Given the description of an element on the screen output the (x, y) to click on. 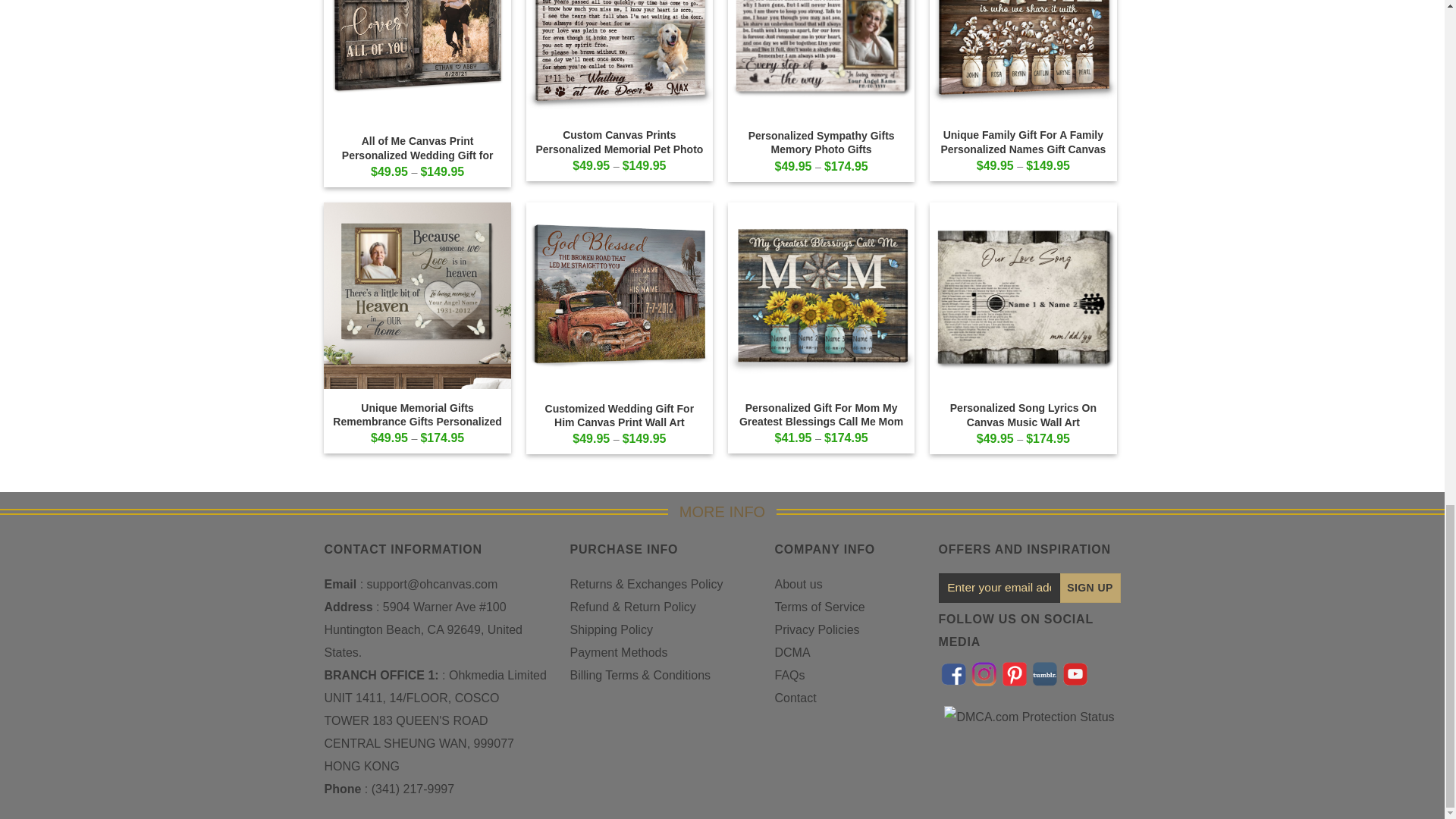
DMCA.com Protection Status (1028, 716)
SIGN UP (1090, 587)
